Given the description of an element on the screen output the (x, y) to click on. 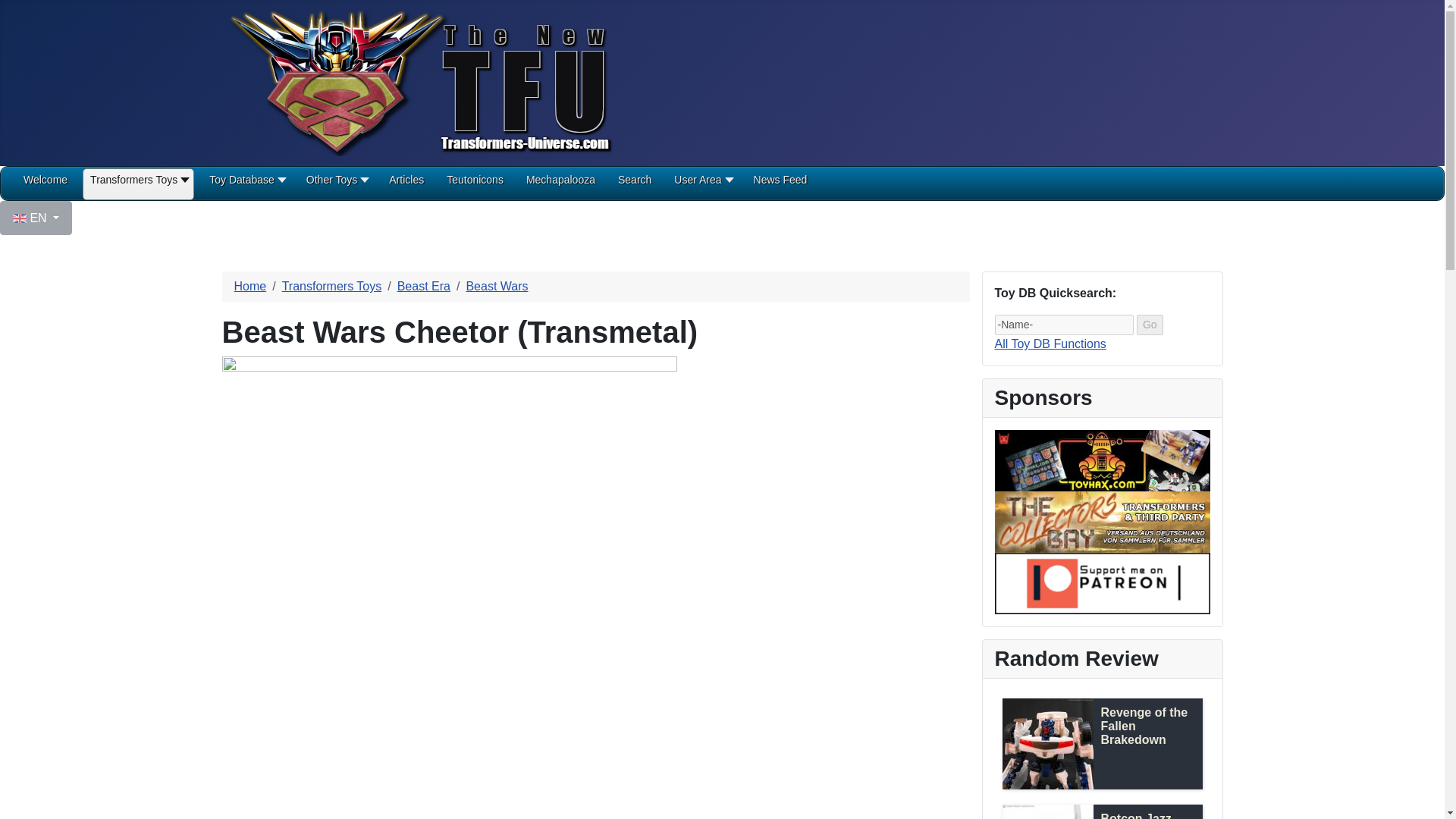
Go (1150, 324)
Transformers Toys (138, 184)
Welcome (44, 184)
-Name- (1064, 324)
